Given the description of an element on the screen output the (x, y) to click on. 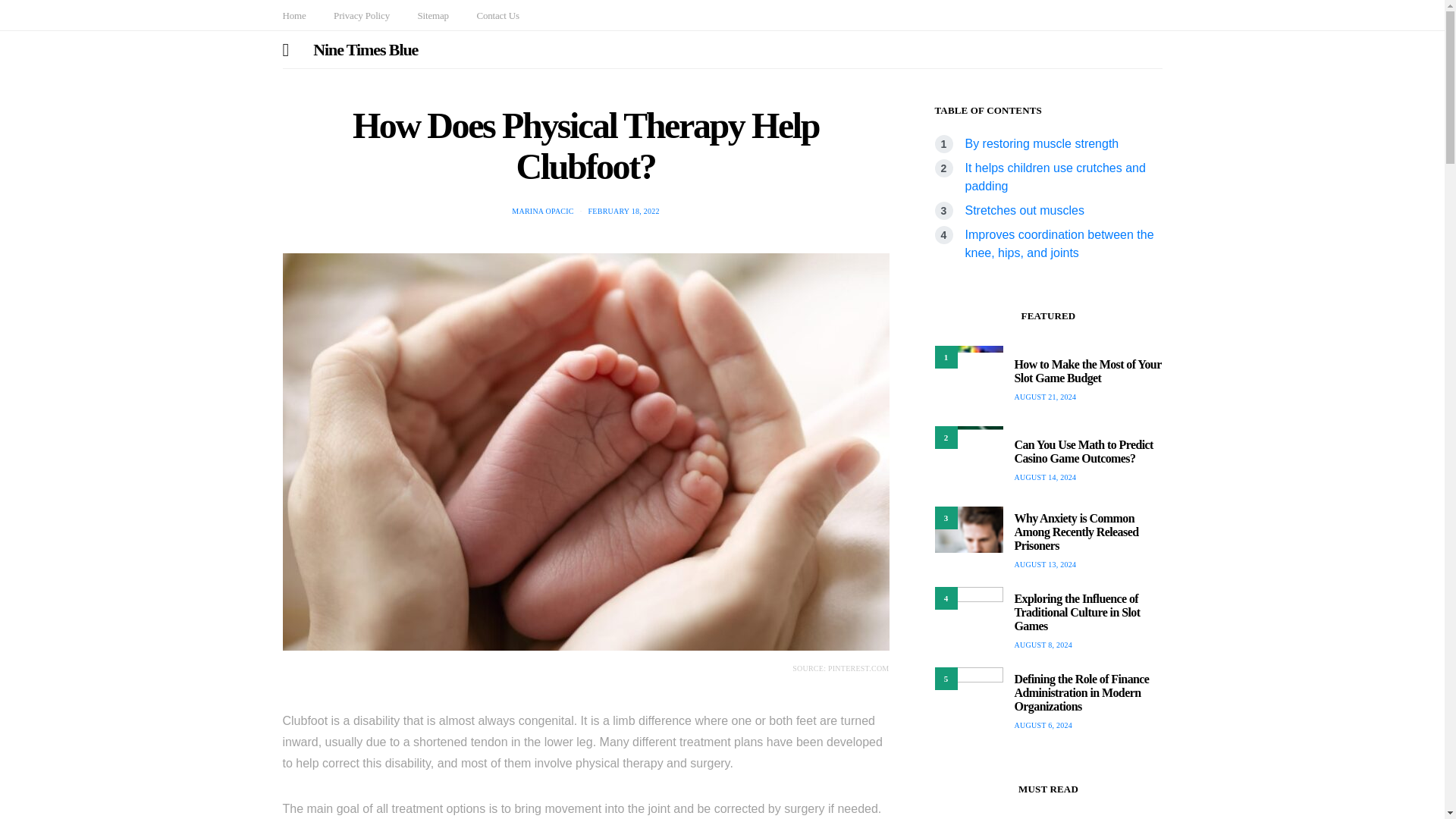
1 (968, 379)
Stretches out muscles (1023, 210)
Improves coordination between the knee, hips, and joints (1058, 243)
Privacy Policy (361, 15)
Contact Us (497, 15)
View all posts by Marina Opacic (542, 211)
By restoring muscle strength (1040, 143)
Nine Times Blue (365, 49)
Sitemap (432, 15)
It helps children use crutches and padding (1053, 176)
